Given the description of an element on the screen output the (x, y) to click on. 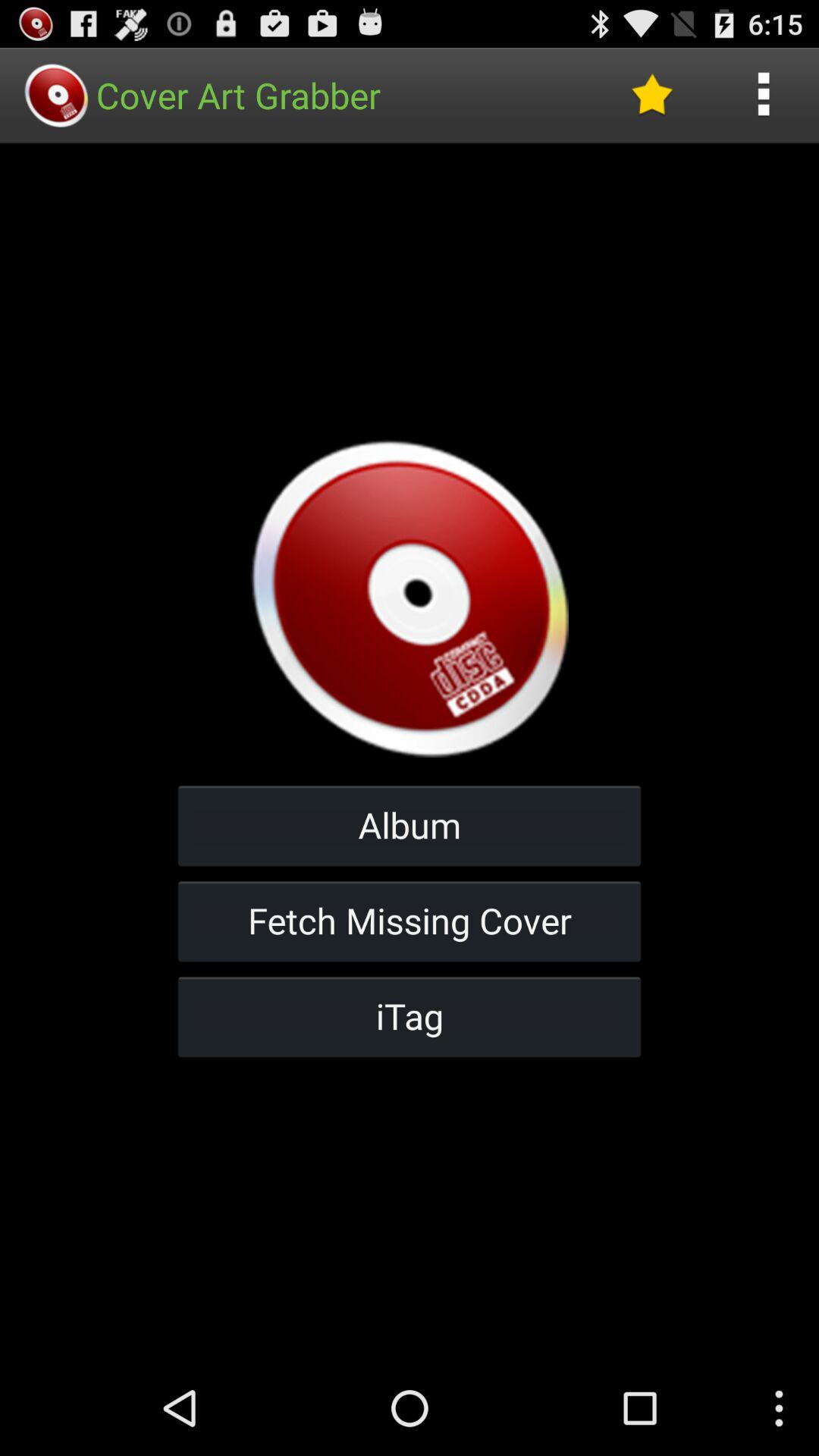
jump to itag (409, 1016)
